Given the description of an element on the screen output the (x, y) to click on. 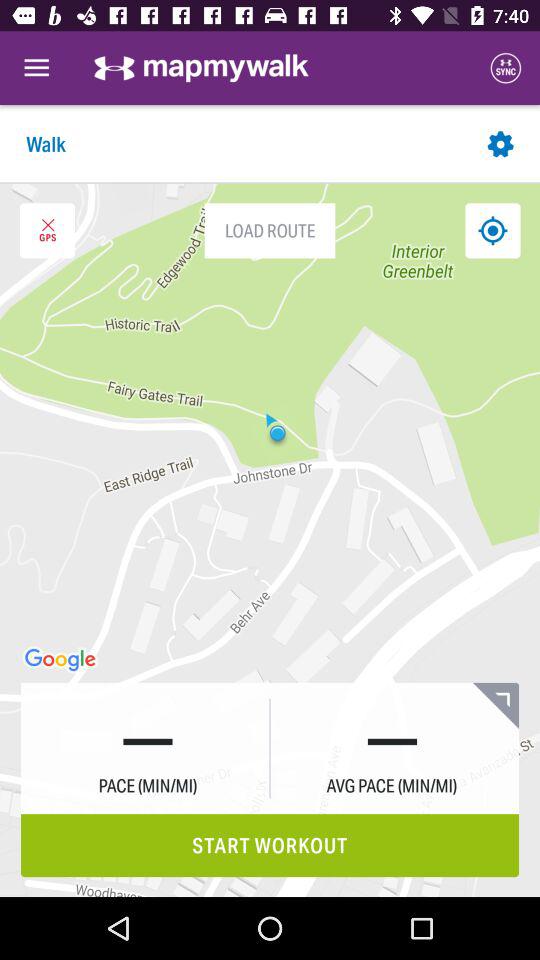
scroll until load route icon (269, 230)
